Given the description of an element on the screen output the (x, y) to click on. 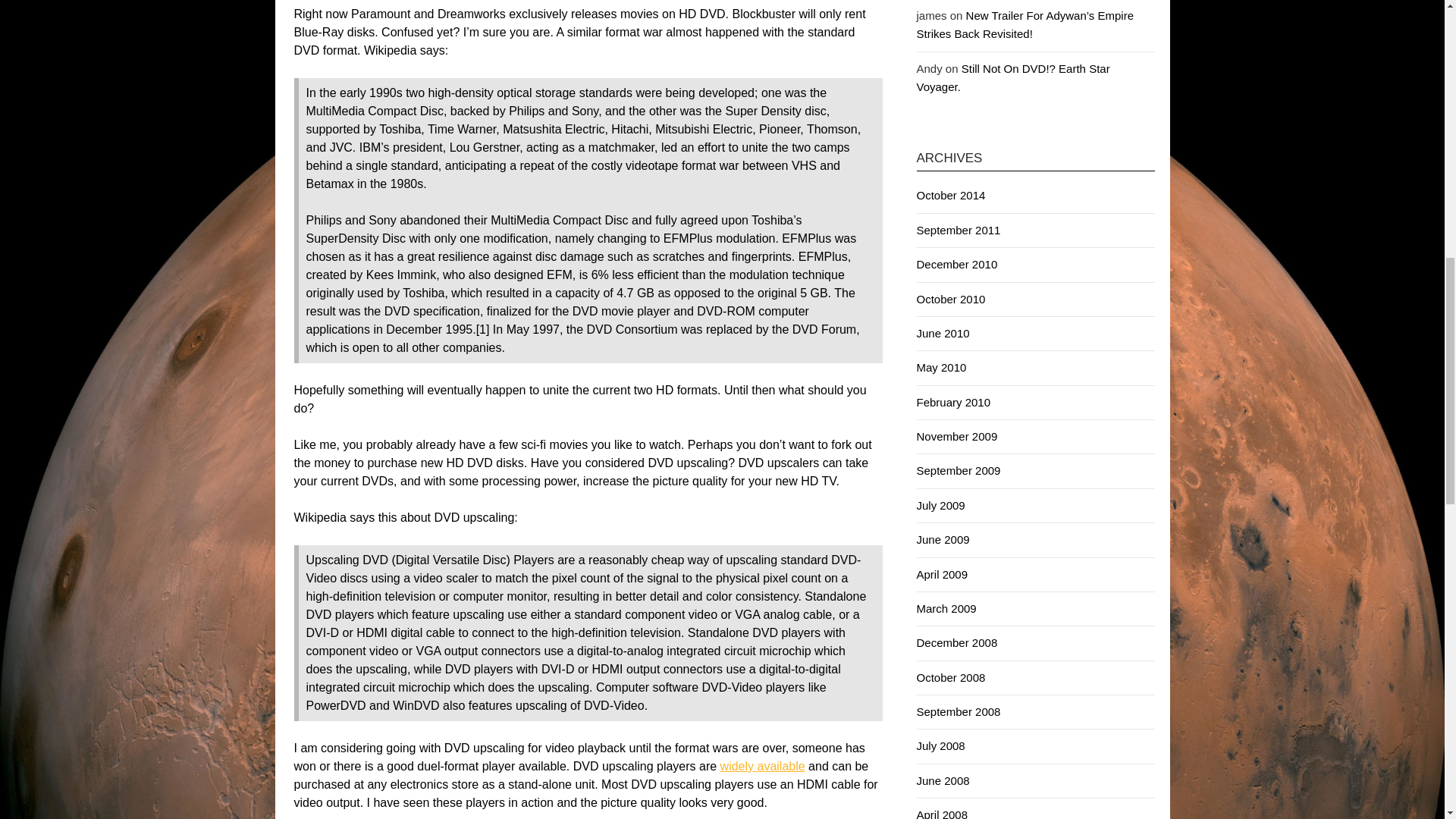
May 2010 (940, 367)
March 2009 (945, 608)
June 2009 (942, 539)
October 2010 (950, 298)
October 2008 (950, 676)
September 2011 (957, 229)
September 2009 (957, 470)
November 2009 (956, 436)
July 2009 (939, 504)
June 2010 (942, 332)
December 2008 (956, 642)
widely available (762, 766)
April 2009 (941, 574)
October 2014 (950, 195)
December 2010 (956, 264)
